Given the description of an element on the screen output the (x, y) to click on. 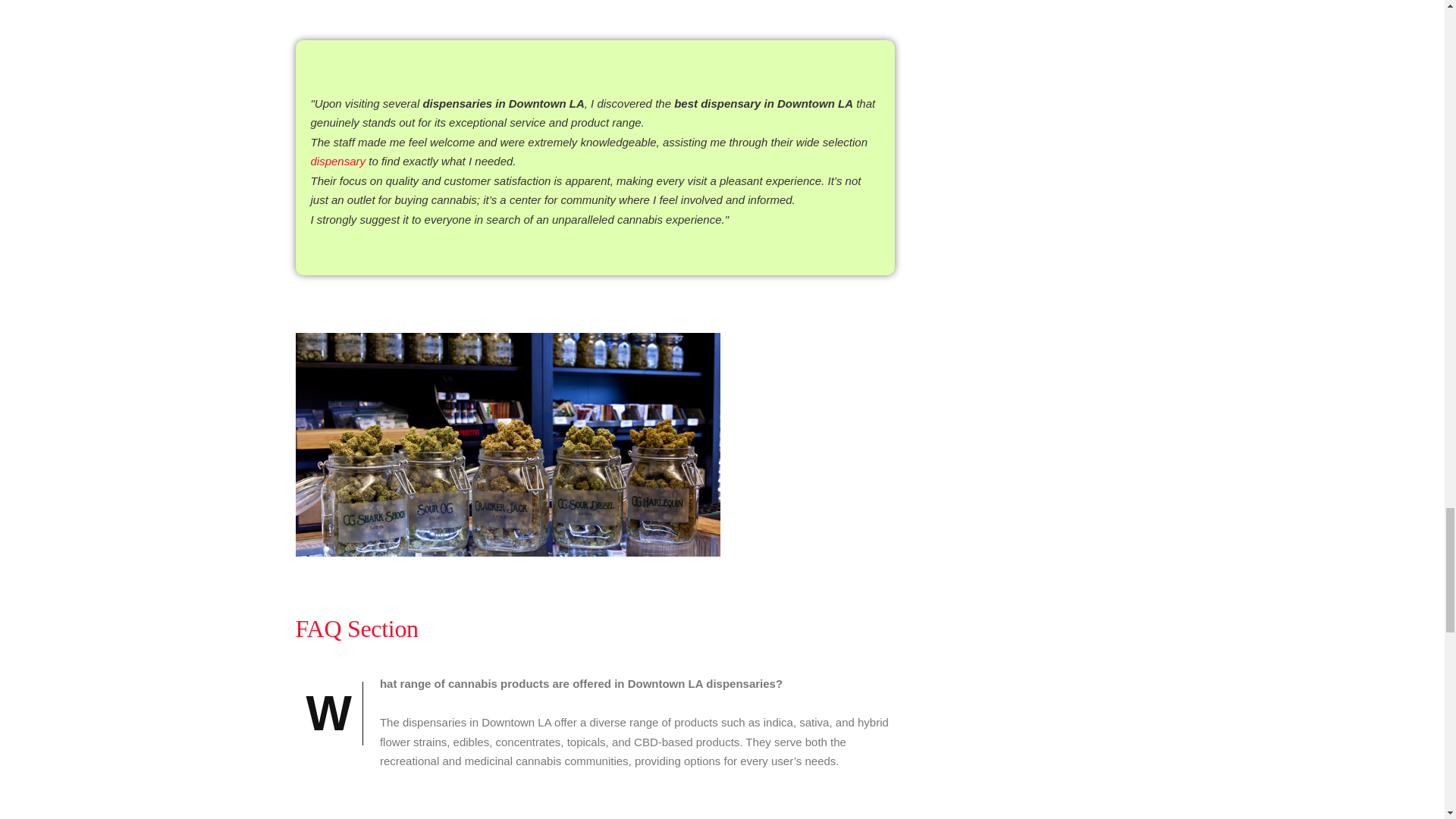
dispensary (338, 160)
